Given the description of an element on the screen output the (x, y) to click on. 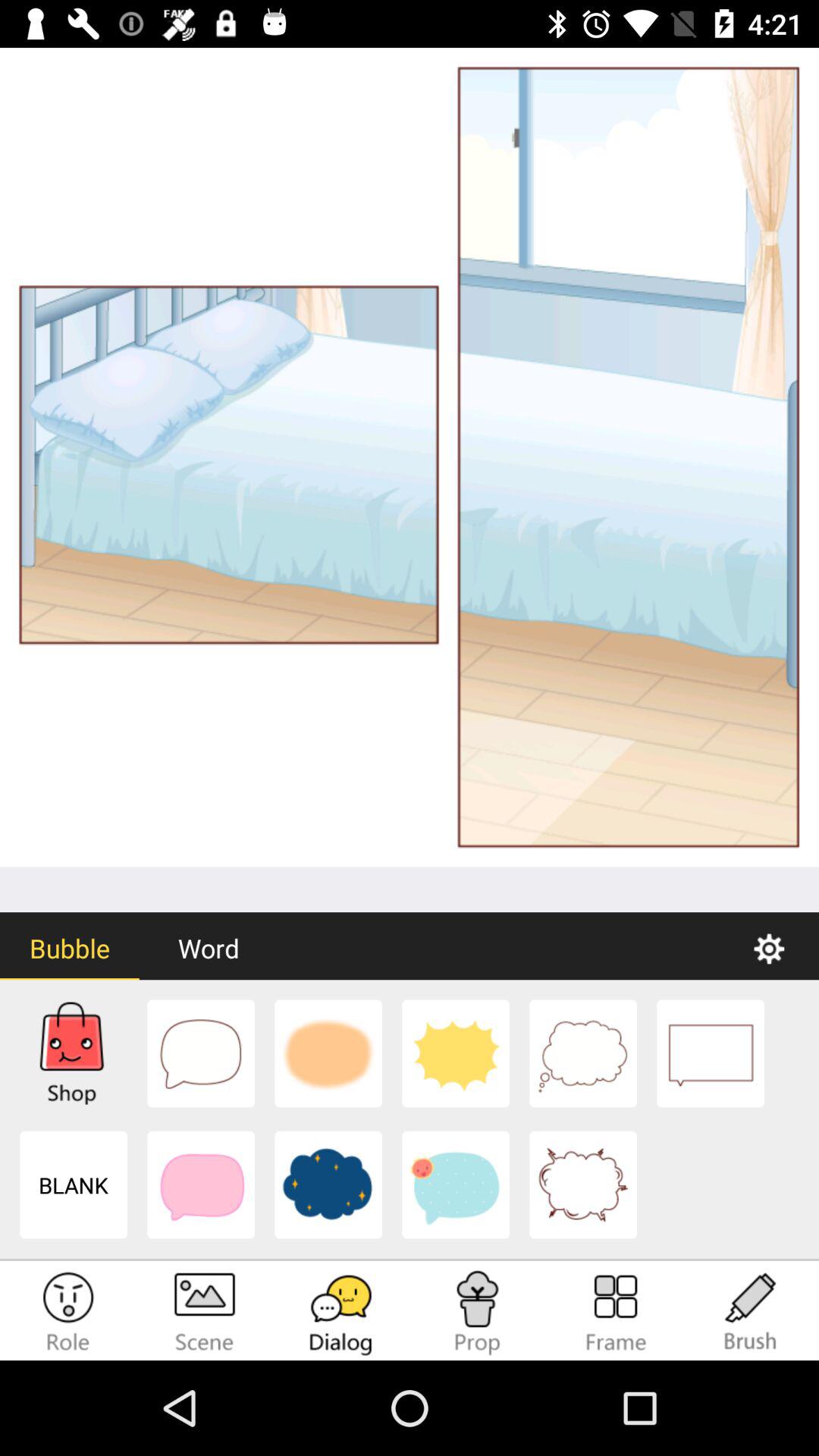
click on the dialog box option which looks like a cloud (583, 1053)
select the pink chat icon which is just above the scene icon (200, 1185)
click on 3rd picture at the bottom (328, 1053)
click on the option which says brush (750, 1312)
click on 1st picture at the bottom (73, 1054)
click on 1st picture at the bottom (73, 1053)
click on last picture at the bottom (583, 1185)
click on the square dialog box option (710, 1053)
